Given the description of an element on the screen output the (x, y) to click on. 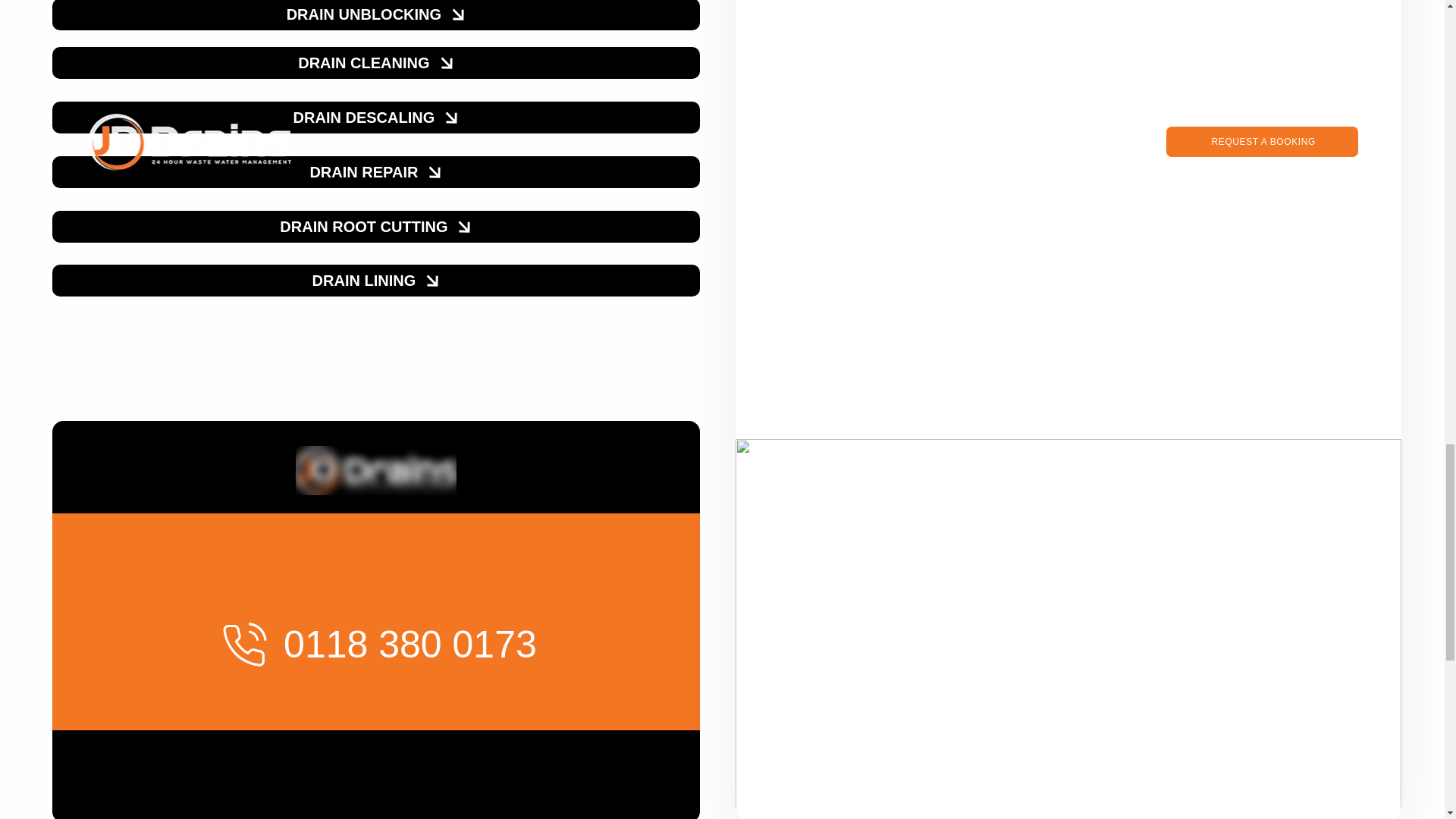
DRAIN CLEANING (376, 62)
DRAIN LINING (376, 280)
DRAIN REPAIR (376, 172)
0118 380 0173 (376, 643)
DRAIN ROOT CUTTING (376, 226)
DRAIN UNBLOCKING (376, 15)
DRAIN DESCALING (376, 117)
